Given the description of an element on the screen output the (x, y) to click on. 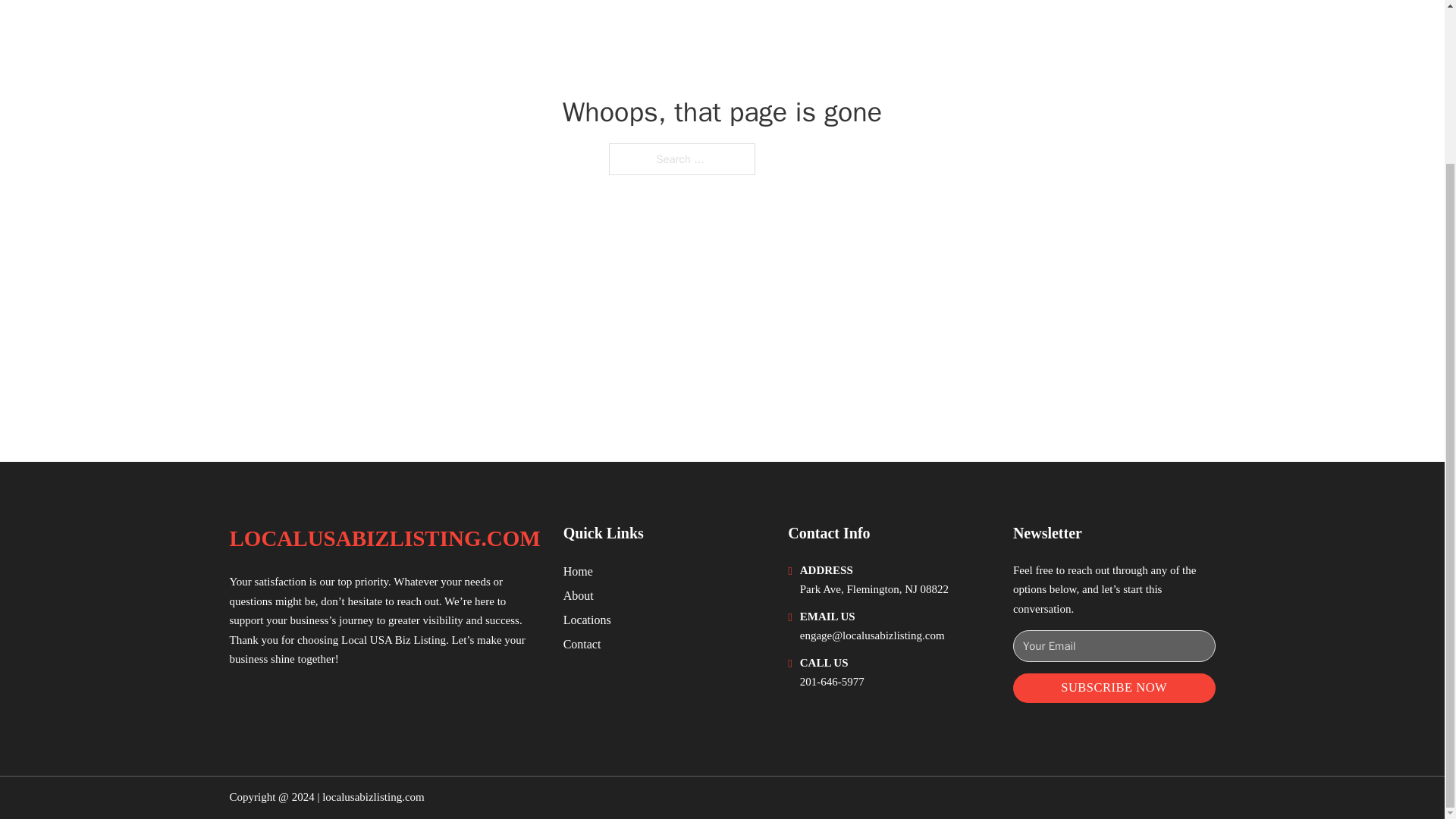
SUBSCRIBE NOW (1114, 687)
Locations (587, 619)
About (578, 595)
LOCALUSABIZLISTING.COM (384, 538)
201-646-5977 (831, 681)
Contact (582, 643)
Home (577, 571)
